Given the description of an element on the screen output the (x, y) to click on. 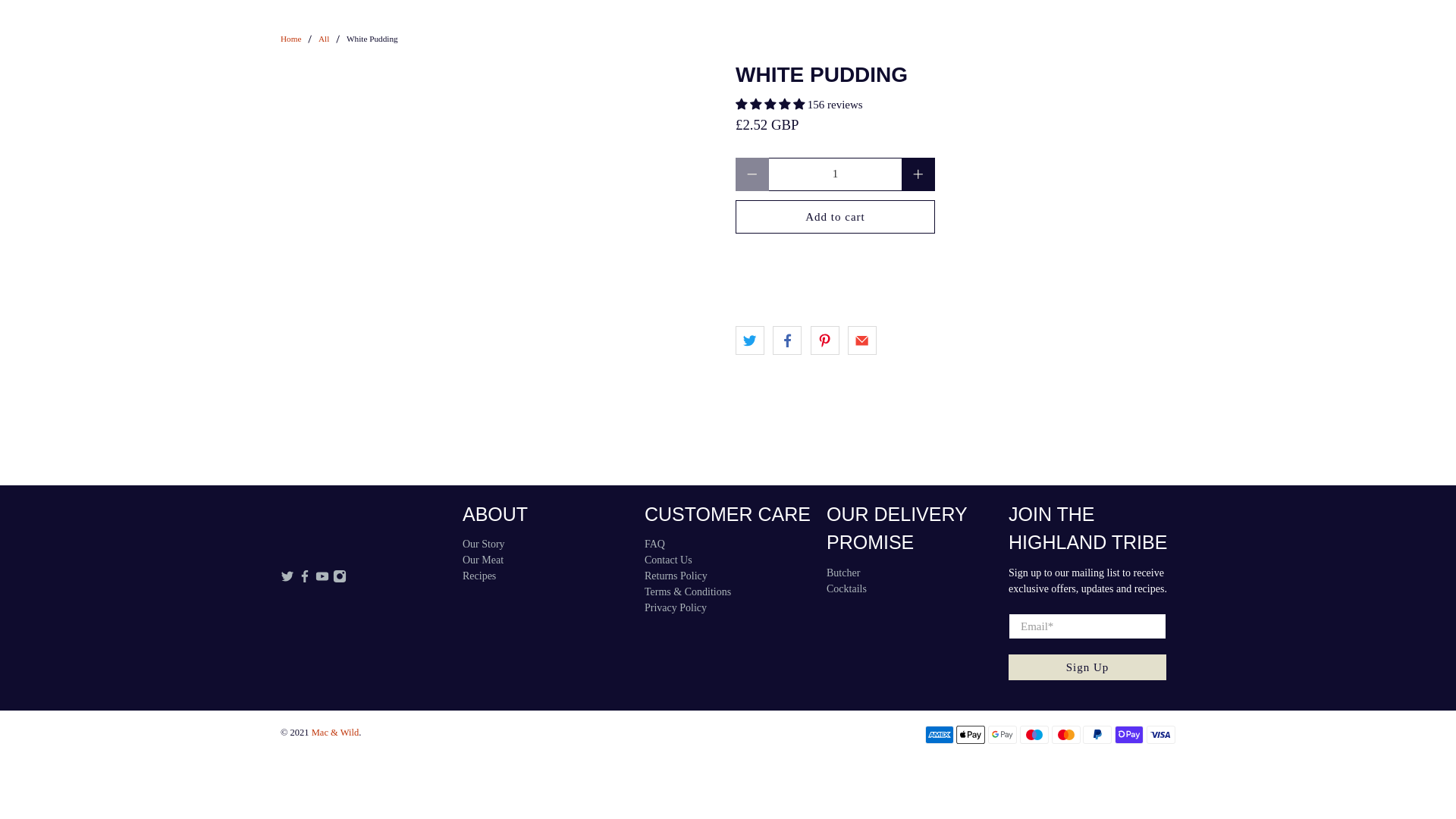
1 (834, 174)
Restaurants (999, 33)
Share this on Twitter (749, 339)
About (1081, 33)
Share this on Facebook (787, 339)
Apple Pay (970, 734)
Share this on Pinterest (823, 339)
Email this to a friend (861, 339)
Google Pay (1002, 734)
American Express (938, 734)
Maestro (1034, 734)
